Given the description of an element on the screen output the (x, y) to click on. 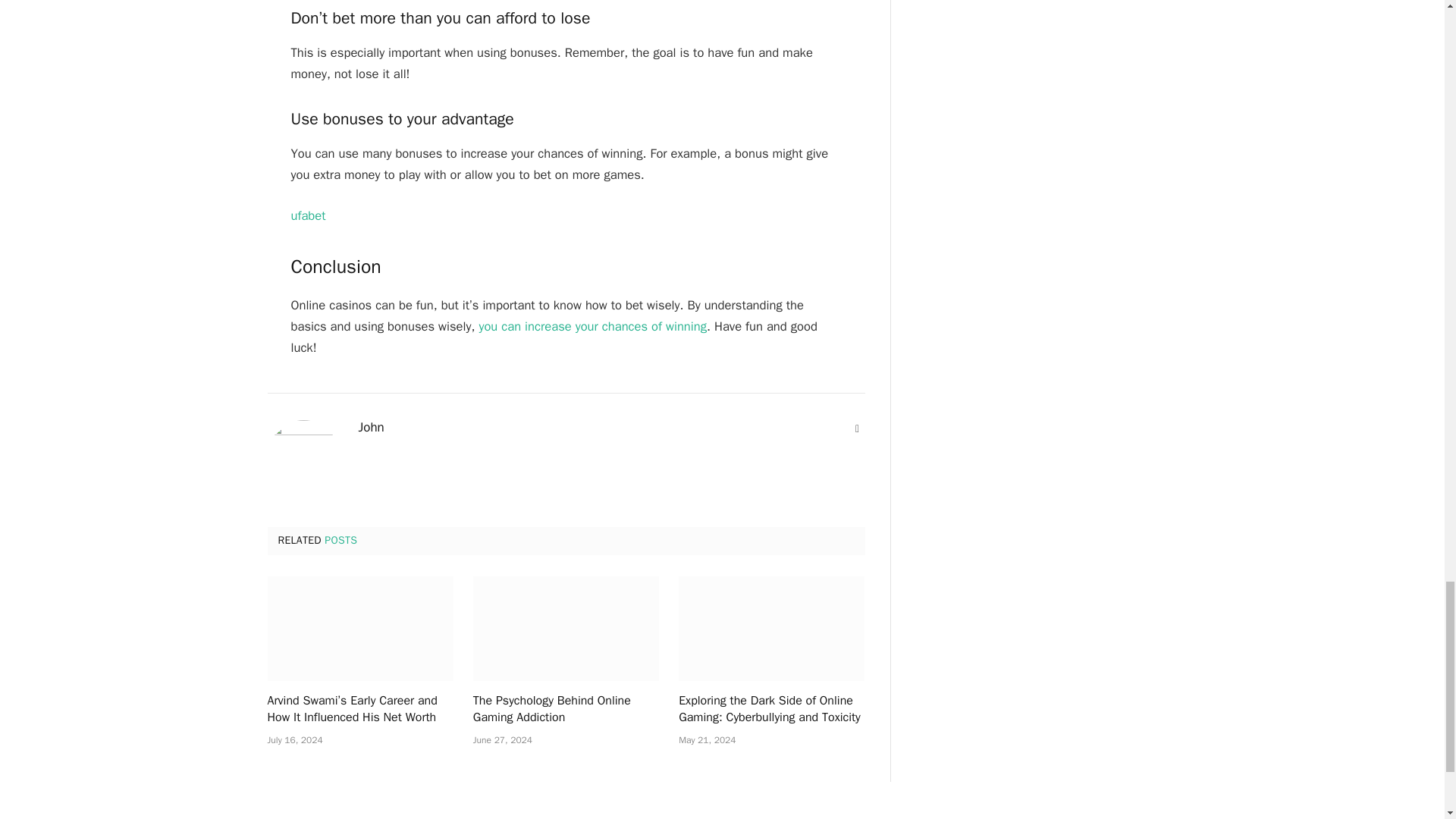
ufabet (308, 215)
The Psychology Behind Online Gaming Addiction (566, 709)
Posts by John (371, 427)
Website (856, 428)
you can increase your chances of winning (590, 326)
Website (856, 428)
John (371, 427)
The Psychology Behind Online Gaming Addiction (566, 628)
